Given the description of an element on the screen output the (x, y) to click on. 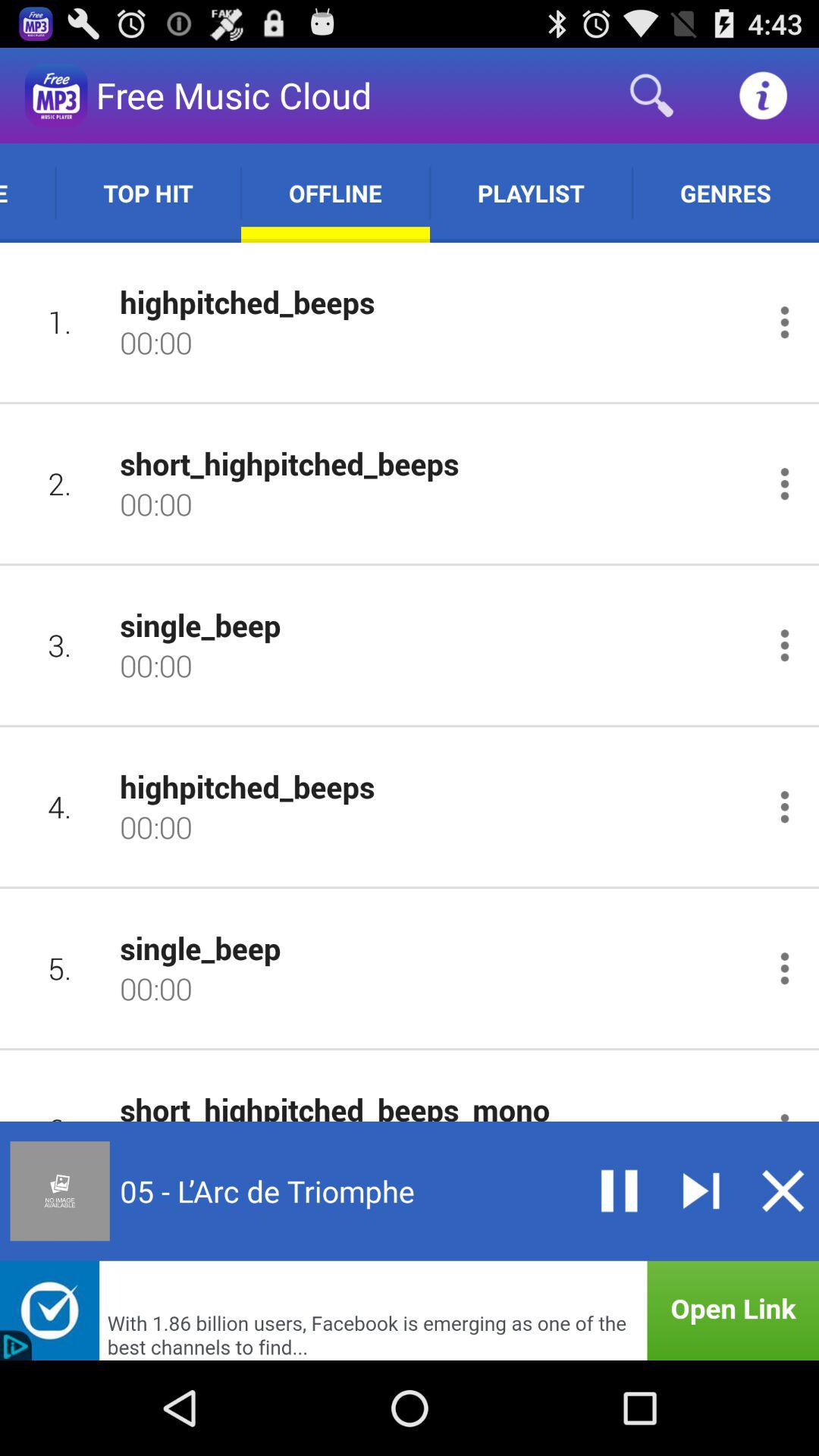
turn off app below 3. item (59, 806)
